Given the description of an element on the screen output the (x, y) to click on. 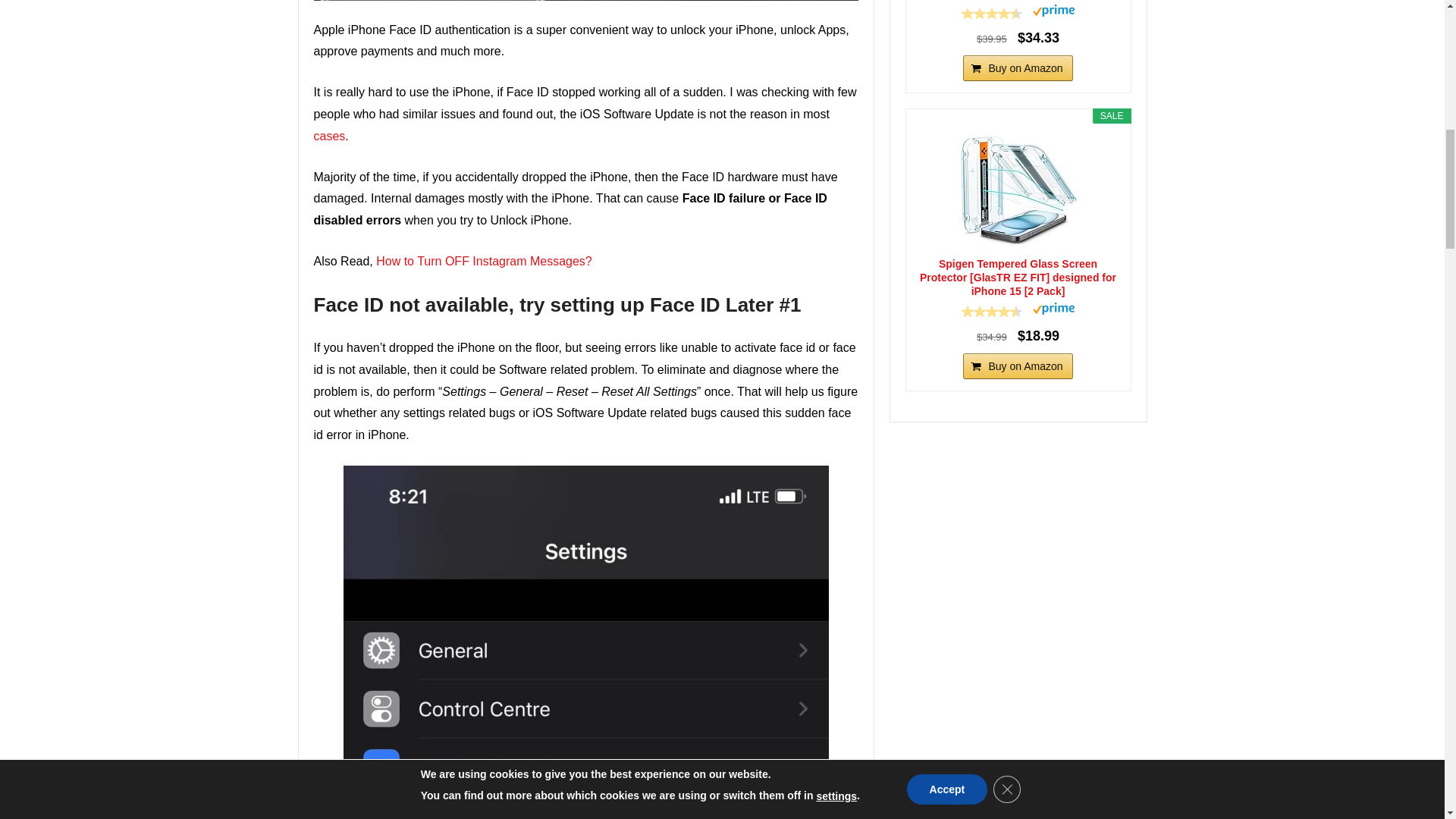
cases (330, 135)
How to Turn OFF Instagram Messages? (483, 260)
